Given the description of an element on the screen output the (x, y) to click on. 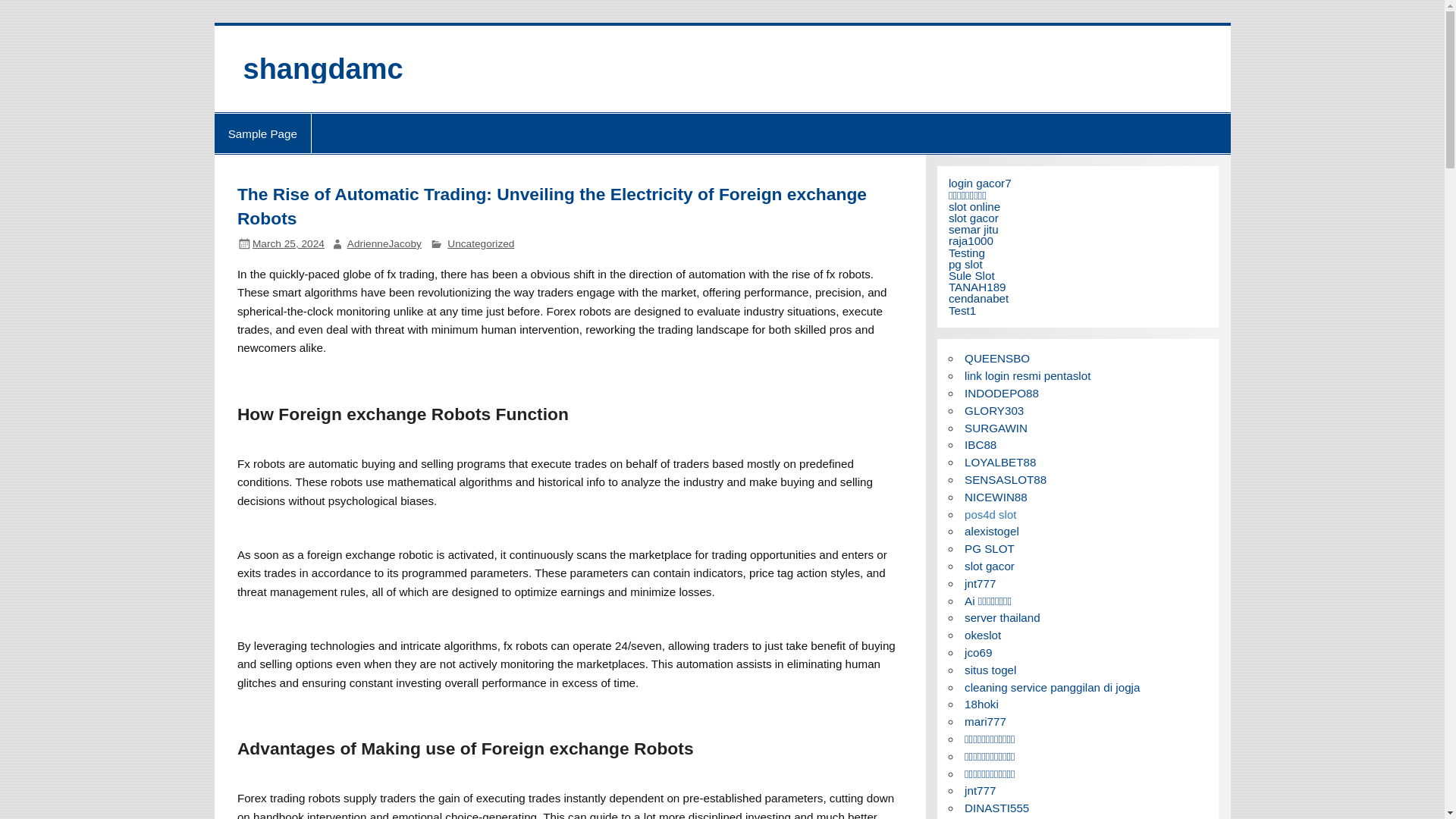
slot gacor (973, 217)
QUEENSBO (996, 358)
AdrienneJacoby (384, 243)
alexistogel (991, 530)
Sule Slot (971, 275)
semar jitu (973, 228)
Testing (967, 252)
PG SLOT (988, 548)
slot gacor (988, 565)
March 25, 2024 (287, 243)
